Given the description of an element on the screen output the (x, y) to click on. 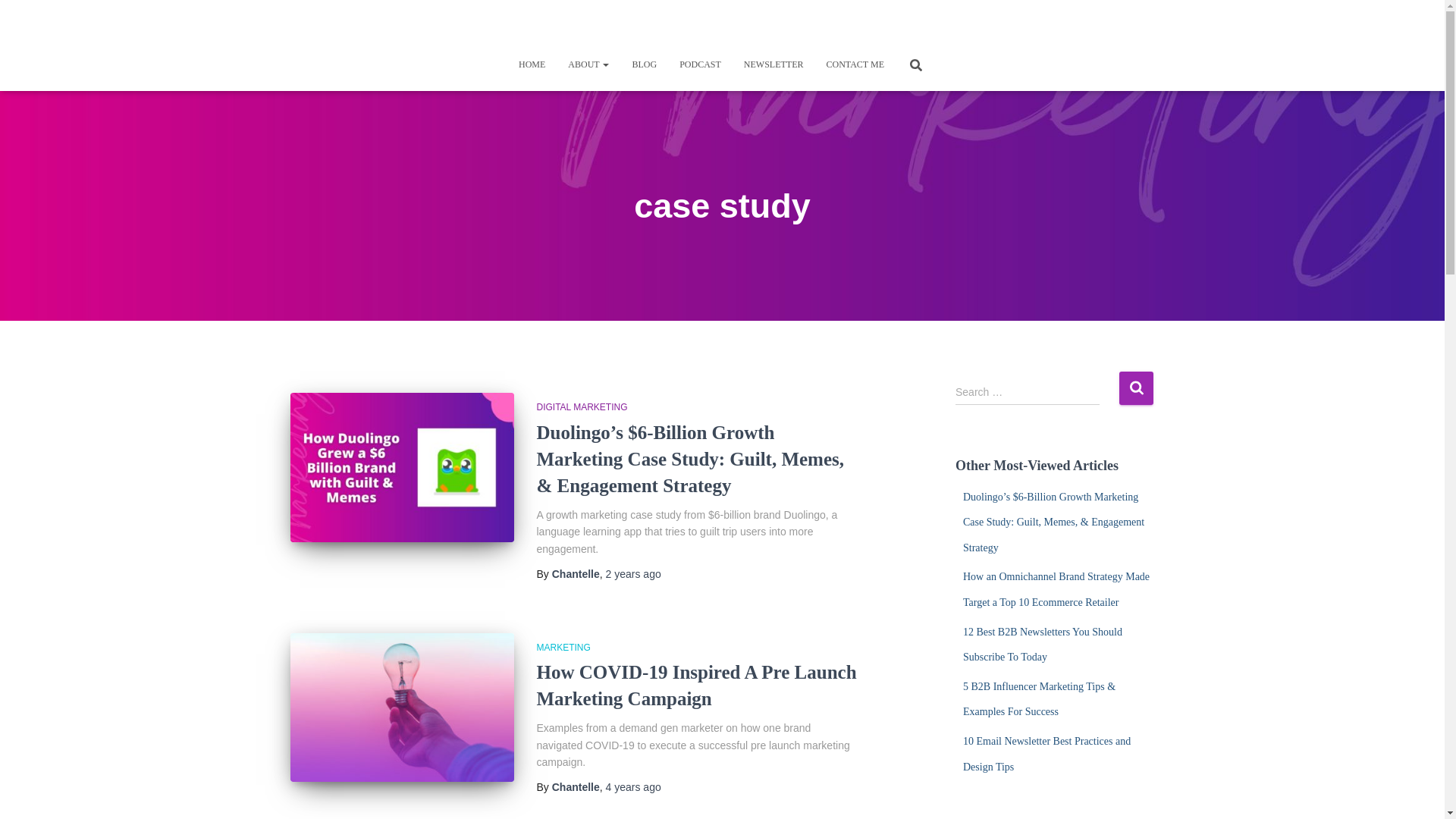
DIGITAL MARKETING (582, 407)
MARKETING (564, 647)
View all posts in Digital Marketing (582, 407)
Chantelle (575, 573)
2 years ago (633, 573)
BLOG (644, 64)
ABOUT (588, 64)
How COVID-19 Inspired A Pre Launch Marketing Campaign (401, 707)
PODCAST (700, 64)
NEWSLETTER (773, 64)
